Given the description of an element on the screen output the (x, y) to click on. 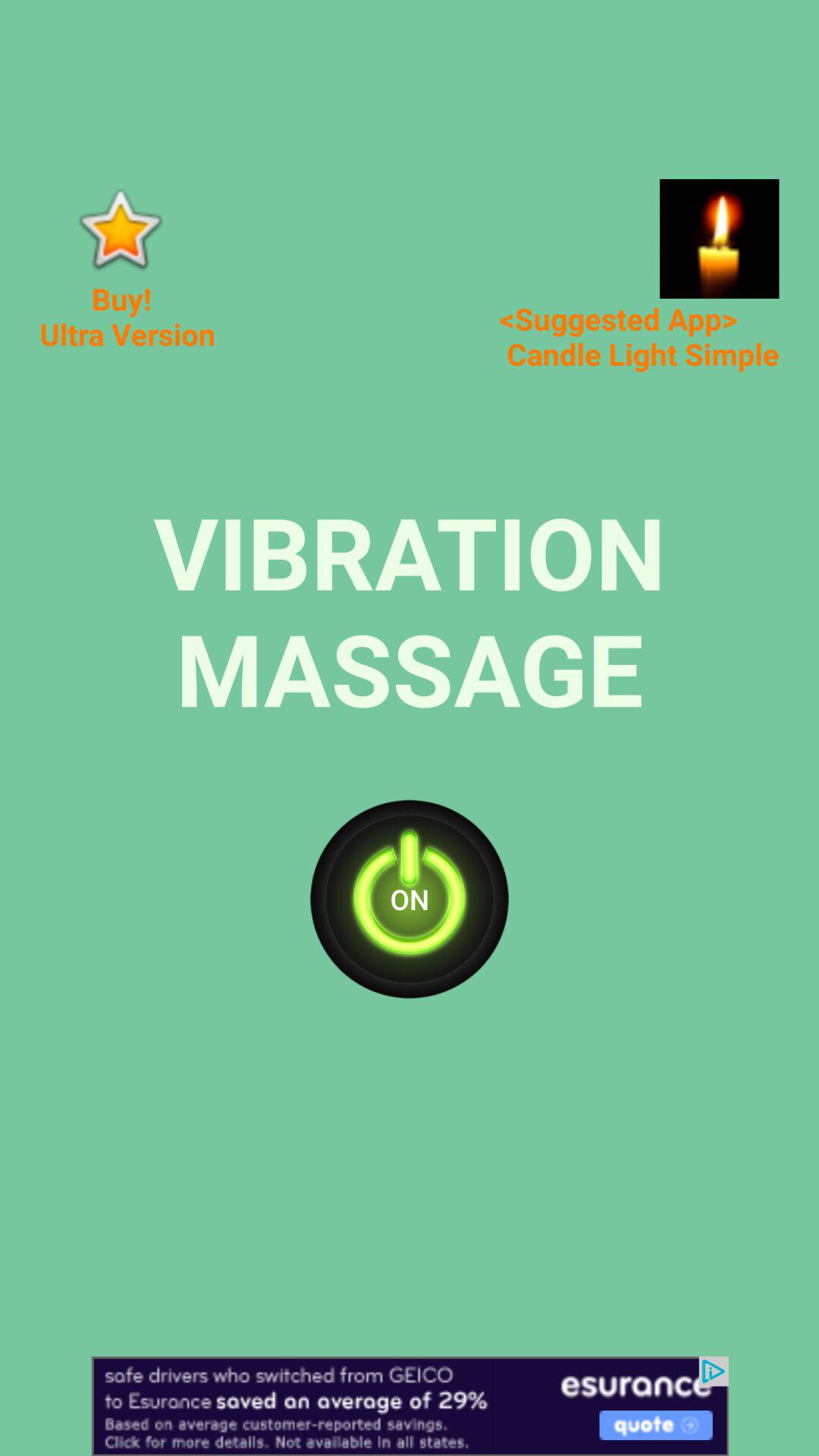
opens advertisement (409, 1406)
